Given the description of an element on the screen output the (x, y) to click on. 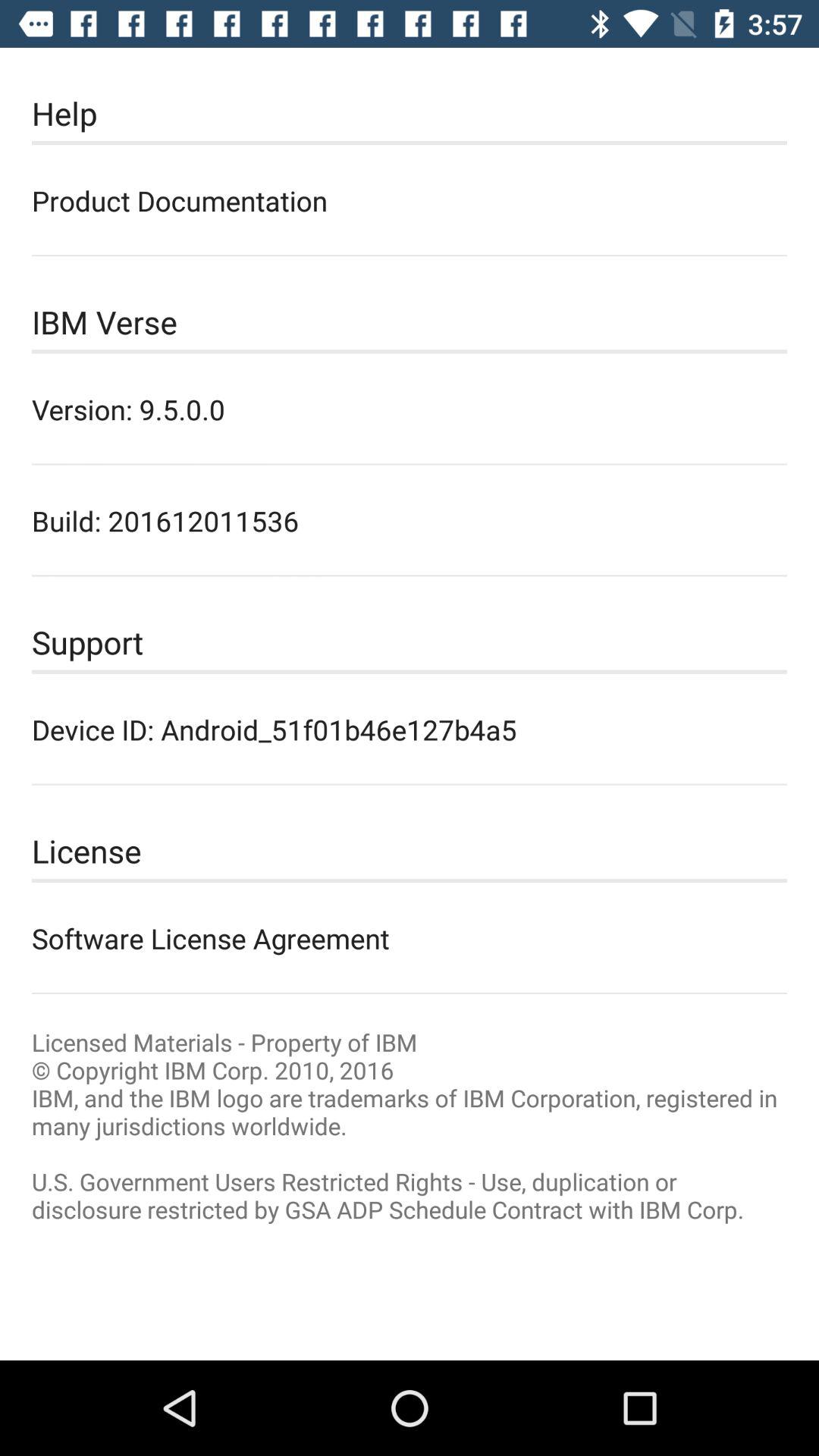
scroll until software license agreement icon (409, 938)
